Given the description of an element on the screen output the (x, y) to click on. 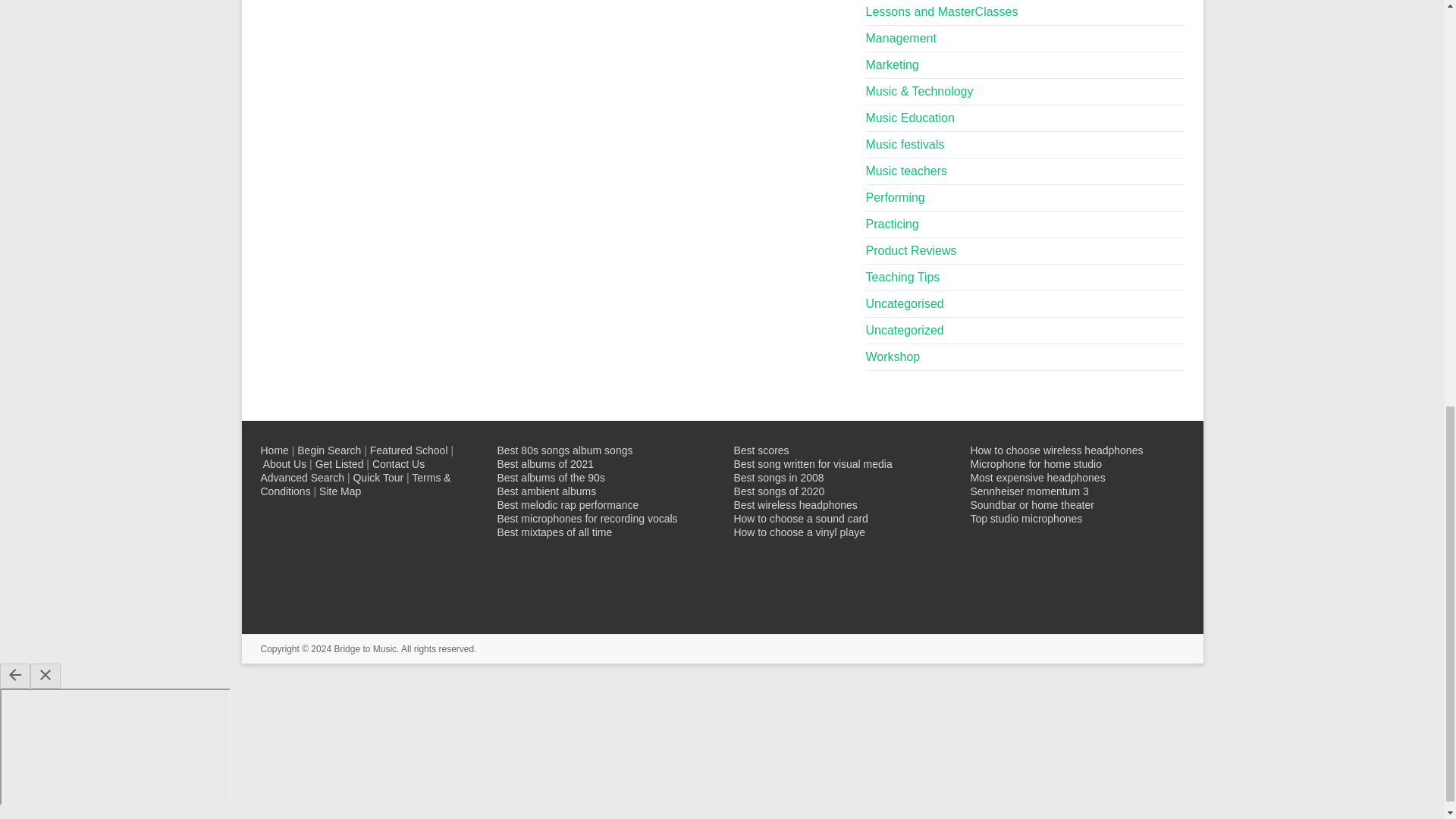
Practicing (892, 223)
Bridge to Music (364, 648)
Music festivals (905, 144)
Music Education (910, 117)
Performing (895, 196)
Lessons and MasterClasses (941, 11)
Marketing (892, 64)
Management (901, 38)
Music teachers (906, 170)
